Given the description of an element on the screen output the (x, y) to click on. 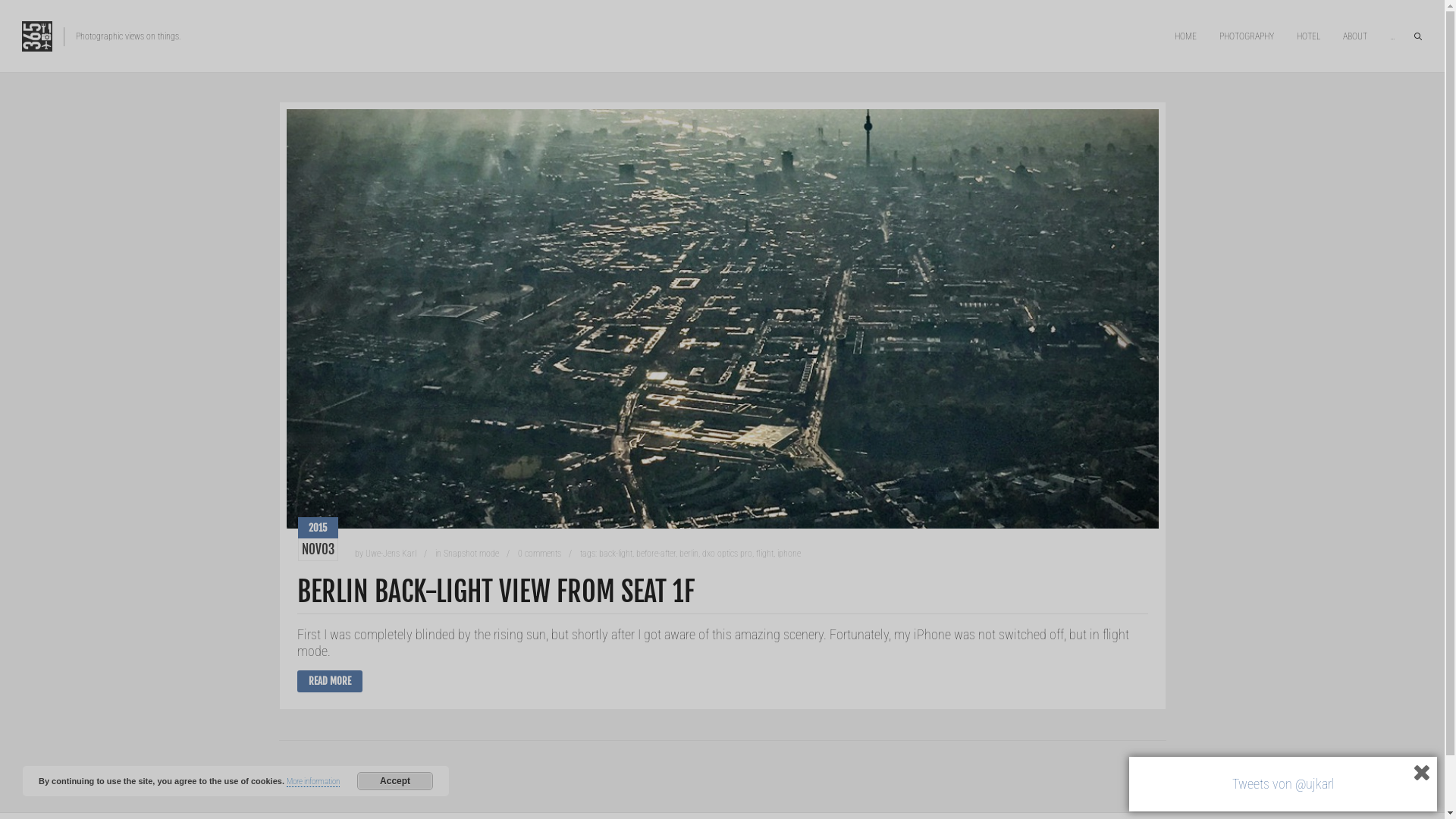
Uwe-Jens Karl Element type: text (390, 553)
0 comments Element type: text (538, 553)
PHOTOGRAPHY Element type: text (1246, 36)
flight Element type: text (763, 553)
Accept Element type: text (395, 780)
before-after Element type: text (654, 553)
Tweets von @ujkarl Element type: text (1282, 783)
berlin Element type: text (688, 553)
HOTEL Element type: text (1308, 36)
iphone Element type: text (788, 553)
ABOUT Element type: text (1355, 36)
HOME Element type: text (1185, 36)
BERLIN BACK-LIGHT VIEW FROM SEAT 1F Element type: text (495, 591)
dxo optics pro Element type: text (727, 553)
READ MORE Element type: text (329, 681)
back-light Element type: text (615, 553)
More information Element type: text (312, 781)
Snapshot mode Element type: text (470, 553)
